Given the description of an element on the screen output the (x, y) to click on. 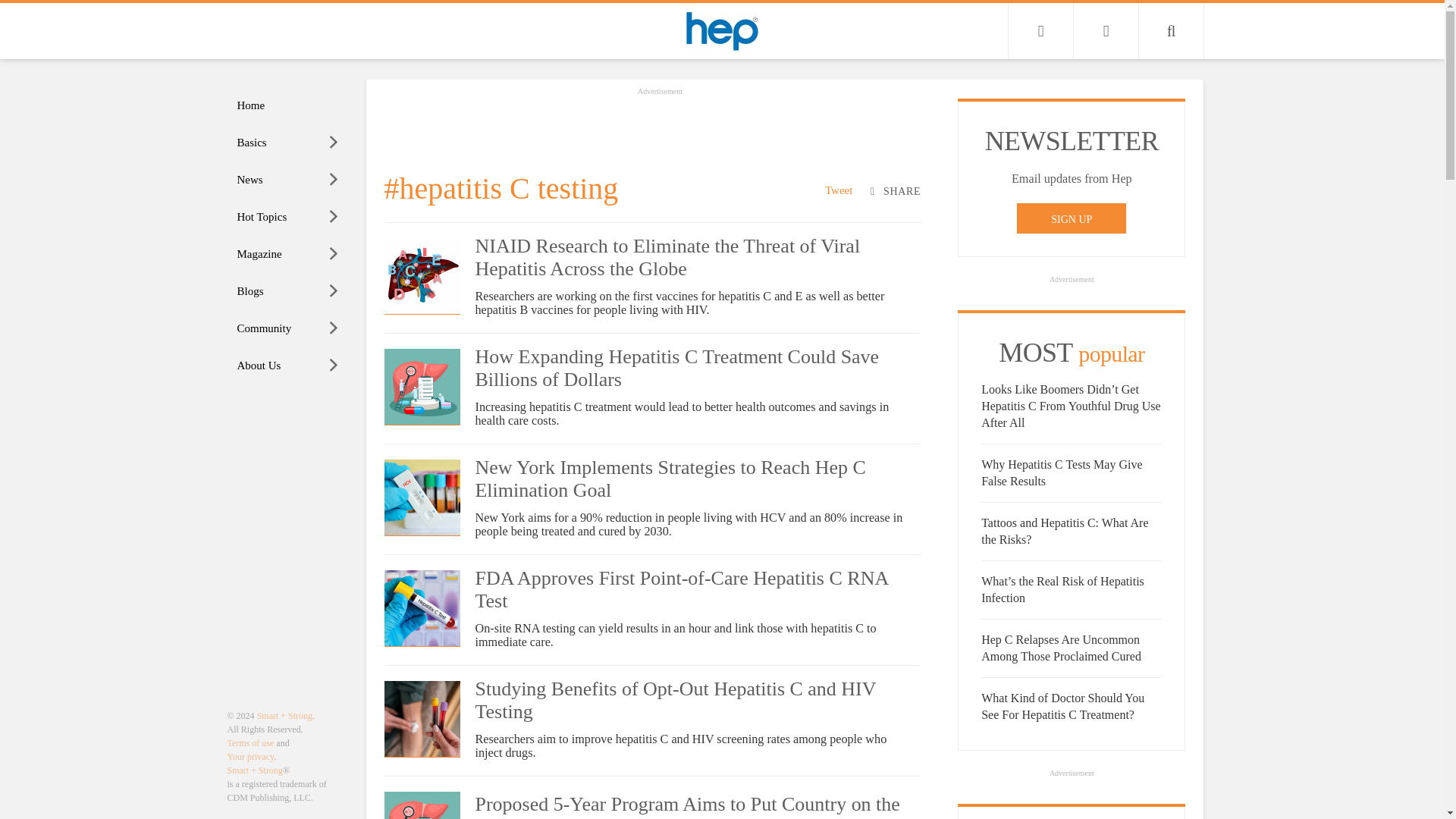
News (288, 180)
Hot Topics (288, 217)
Home (288, 105)
Basics (288, 142)
